Given the description of an element on the screen output the (x, y) to click on. 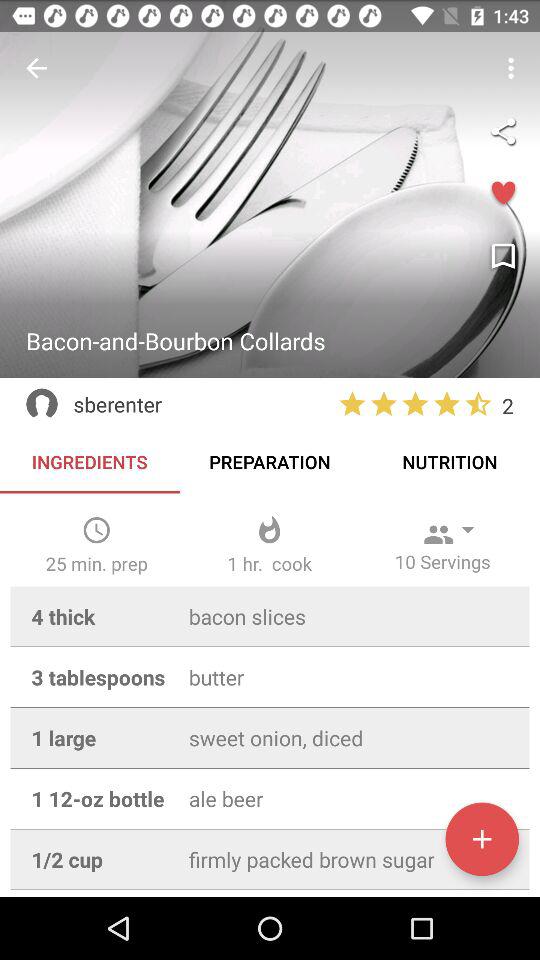
add something (482, 839)
